Given the description of an element on the screen output the (x, y) to click on. 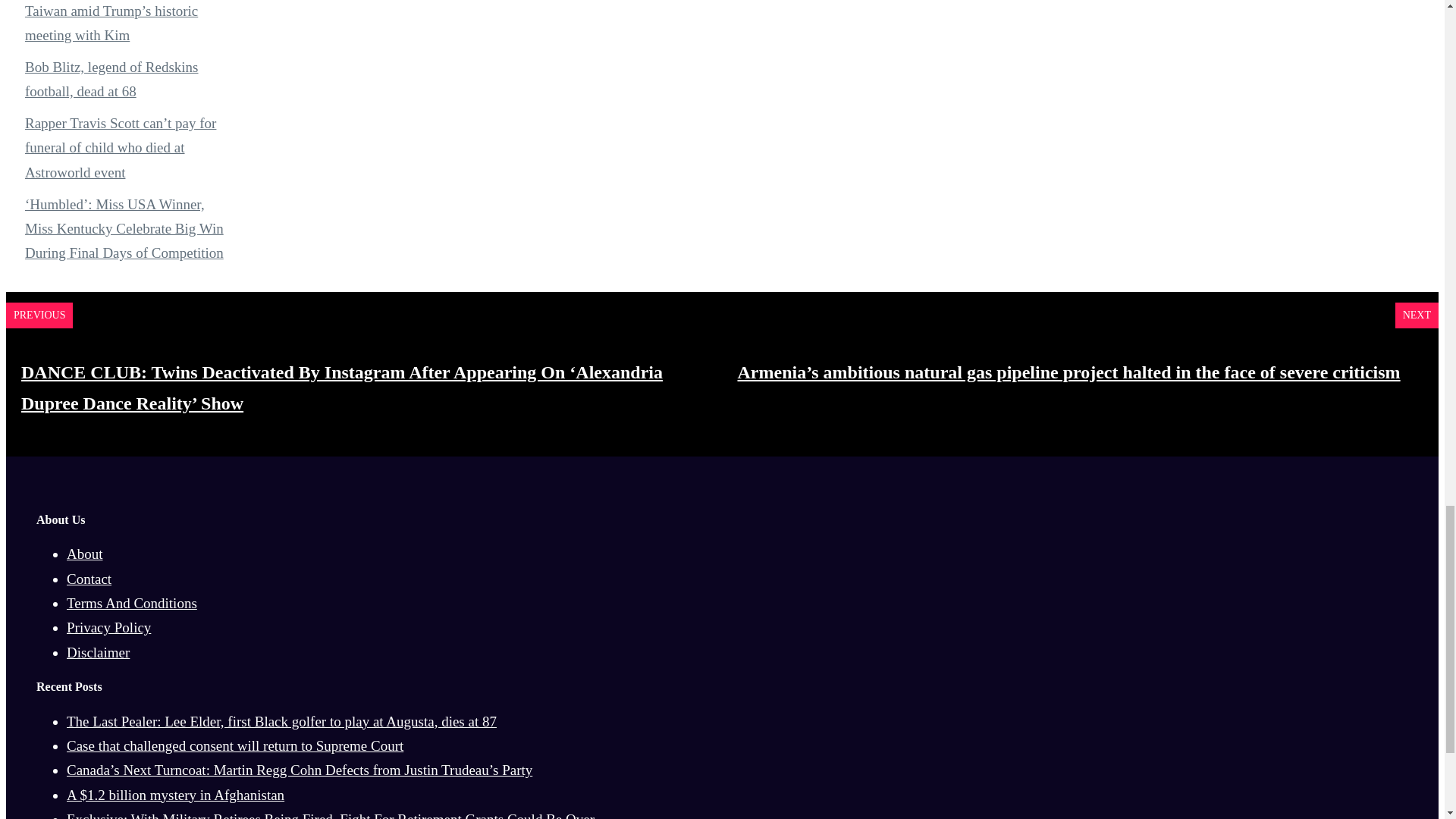
About (84, 553)
Contact (89, 578)
Bob Blitz, legend of Redskins football, dead at 68 (111, 78)
Terms And Conditions (131, 602)
